Given the description of an element on the screen output the (x, y) to click on. 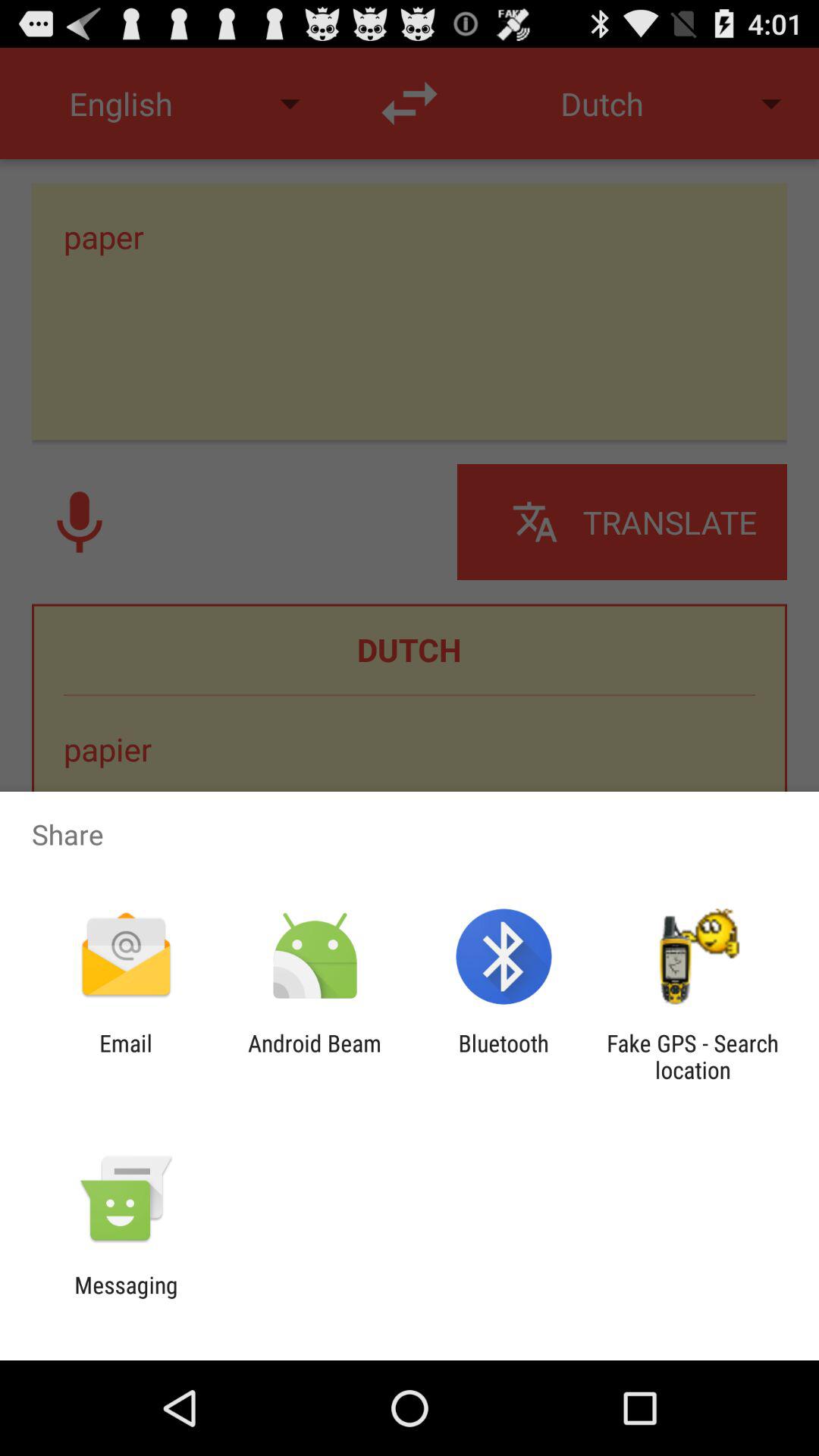
scroll to the fake gps search (692, 1056)
